Given the description of an element on the screen output the (x, y) to click on. 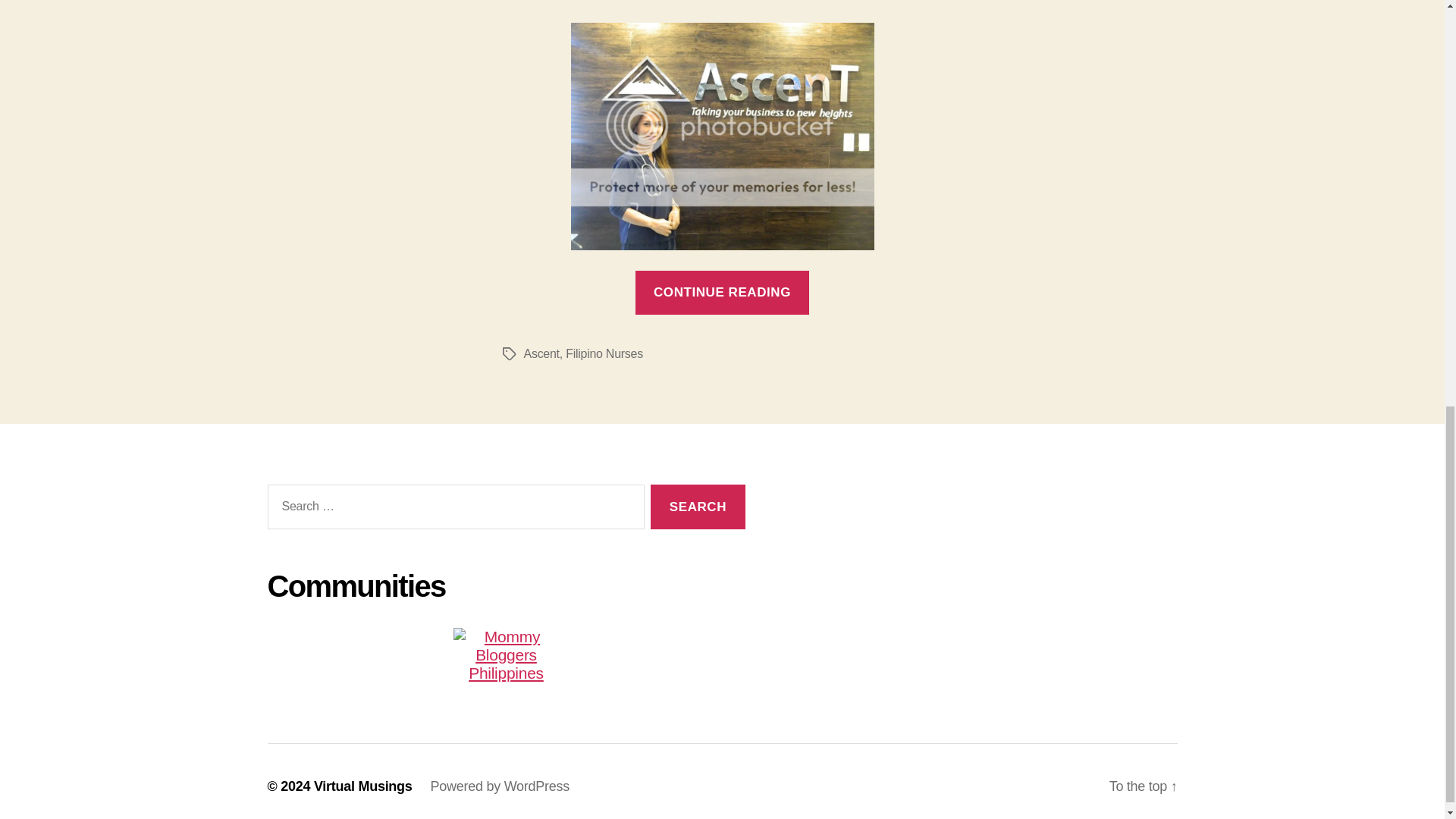
Mommy Bloggers Philippines (505, 655)
Search (697, 506)
Search (697, 506)
